Given the description of an element on the screen output the (x, y) to click on. 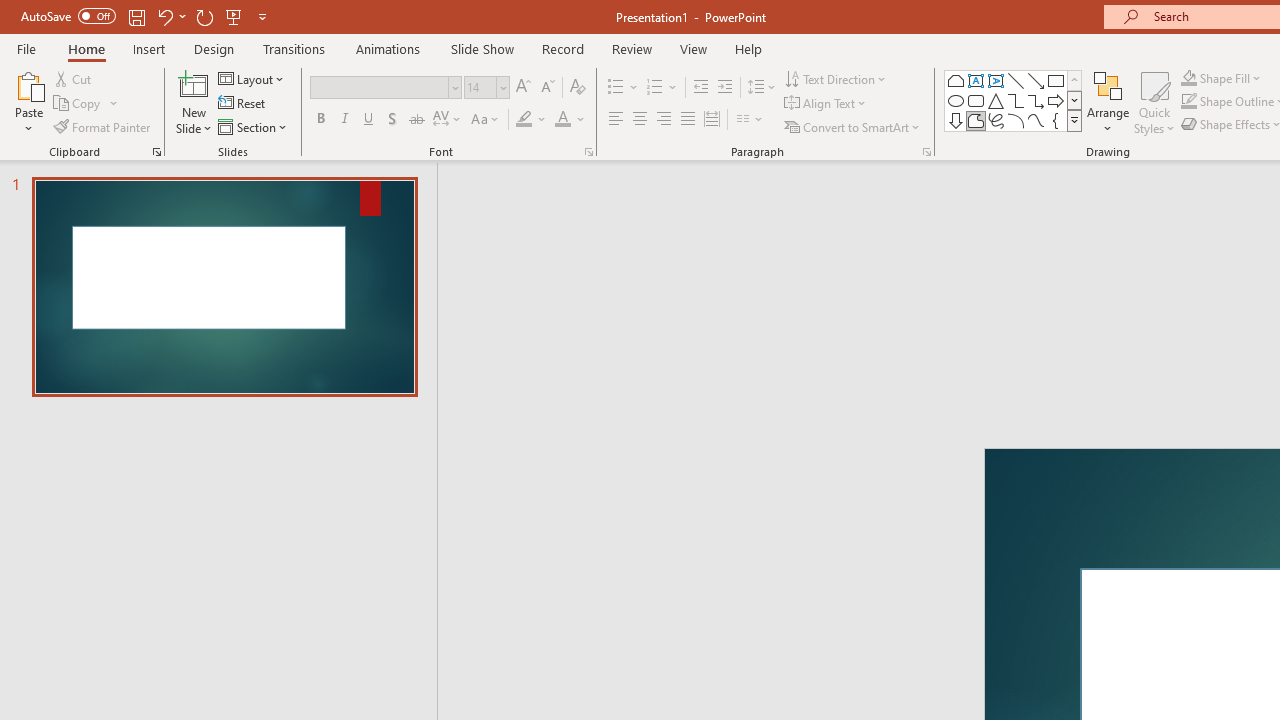
Shape Fill Orange, Accent 2 (1188, 78)
